Given the description of an element on the screen output the (x, y) to click on. 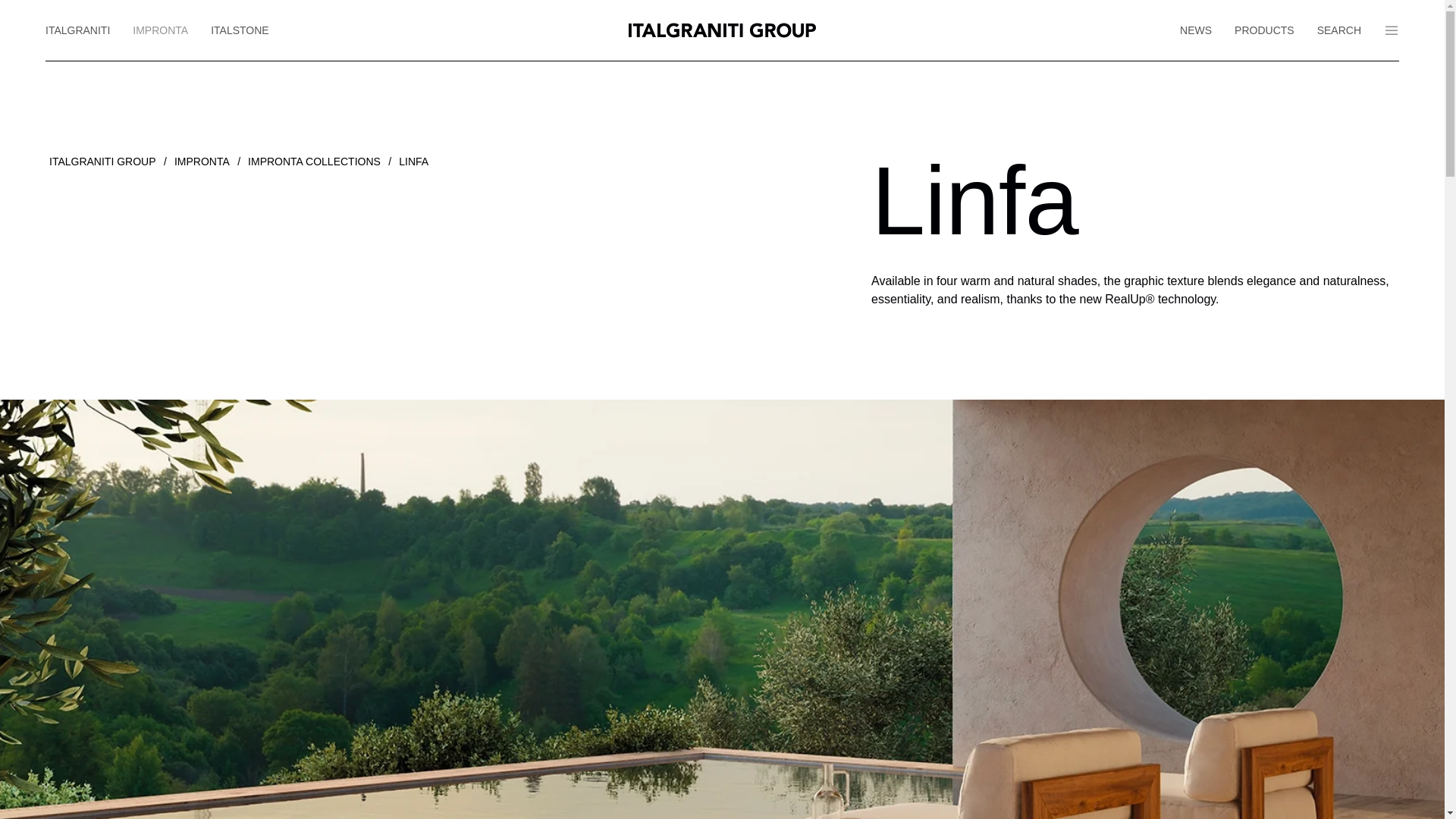
IMPRONTA (159, 30)
ITALSTONE (240, 30)
NEWS (1196, 30)
ITALGRANITI (82, 30)
PRODUCTS (1264, 30)
